Given the description of an element on the screen output the (x, y) to click on. 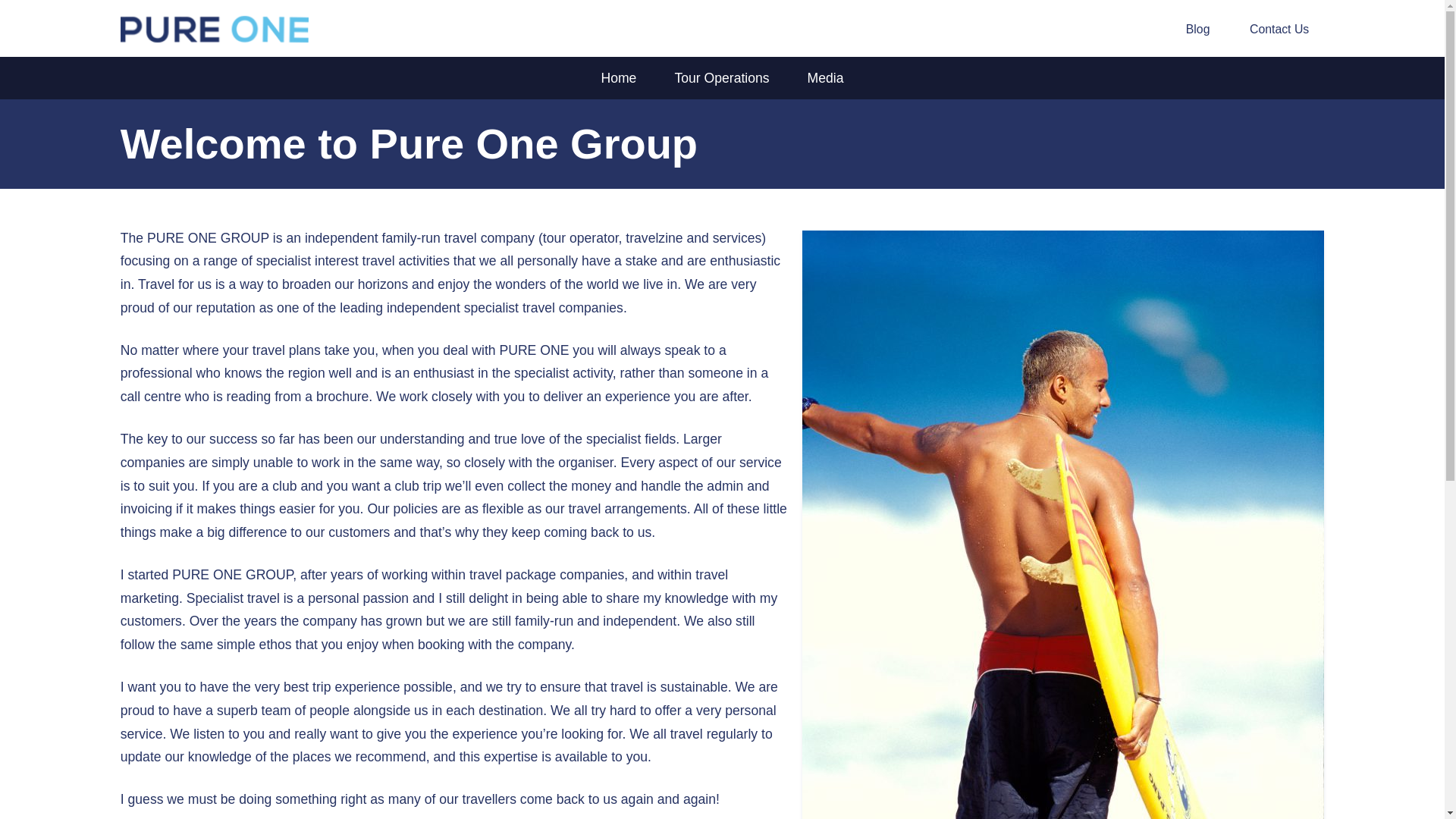
Tour Operations (721, 77)
Home (617, 77)
Pure One Group -  Wonderful Trips with a Touch of Luxury (283, 27)
Contact Us (1278, 29)
Media (826, 77)
Blog (1197, 29)
